Given the description of an element on the screen output the (x, y) to click on. 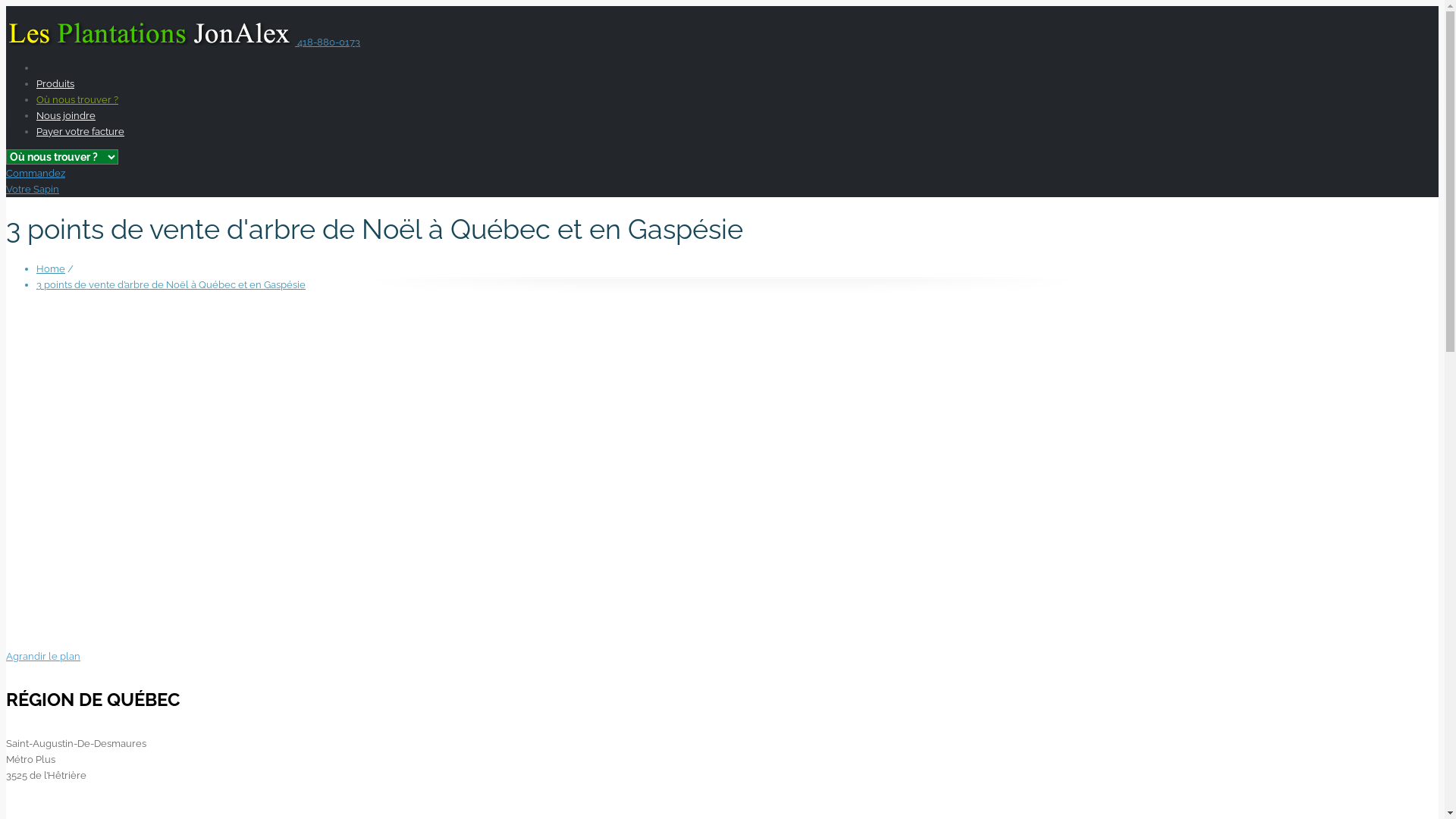
Les plantations JonAlex Element type: hover (151, 41)
Payer votre facture Element type: text (80, 131)
Produits Element type: text (55, 83)
418-880-0173 Element type: text (328, 41)
Nous joindre Element type: text (65, 115)
Commandez
Votre Sapin Element type: text (35, 180)
Home Element type: text (50, 268)
Agrandir le plan Element type: text (43, 656)
